Given the description of an element on the screen output the (x, y) to click on. 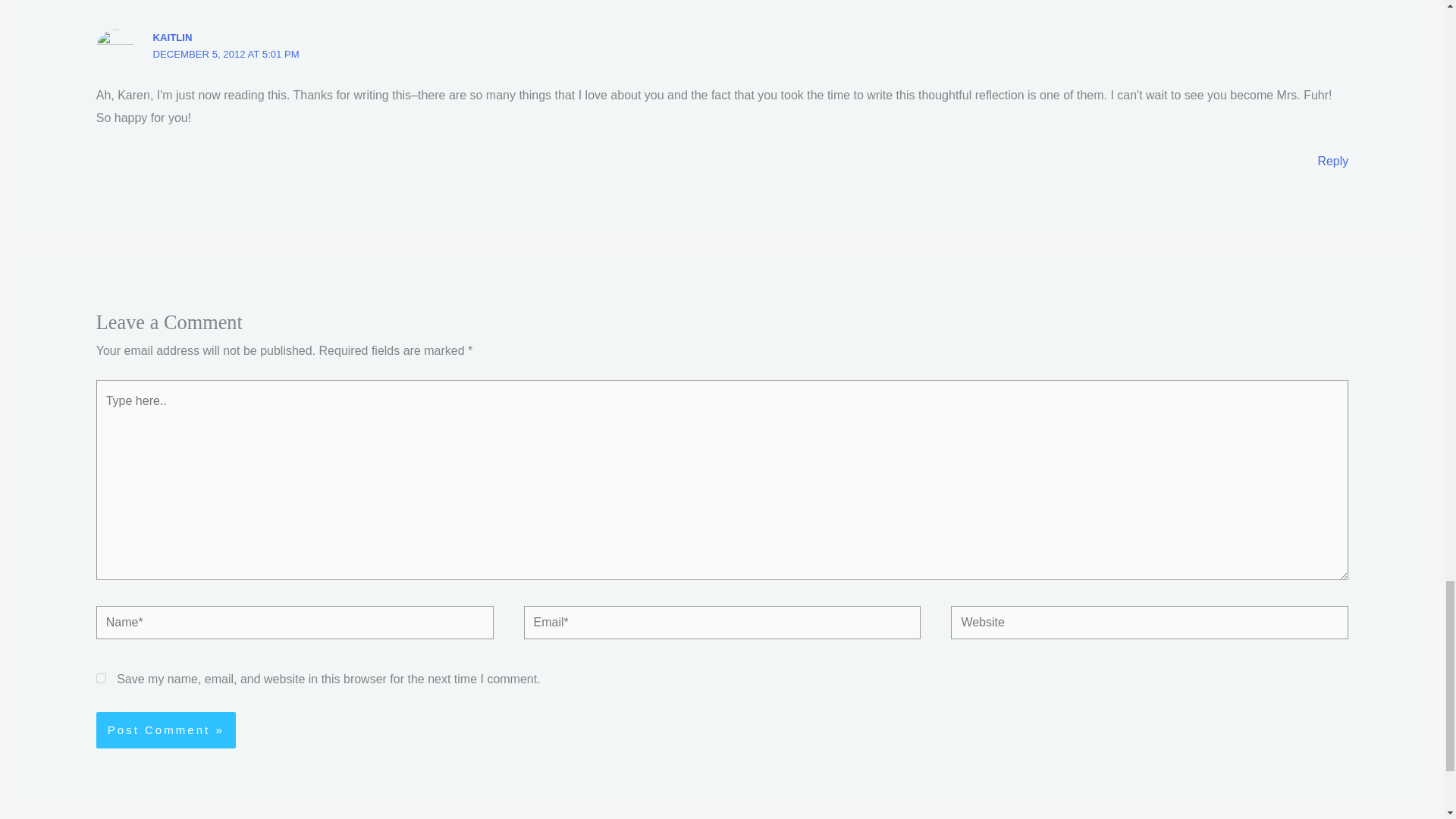
KAITLIN (172, 37)
Reply (1332, 160)
yes (101, 678)
DECEMBER 5, 2012 AT 5:01 PM (225, 53)
